Given the description of an element on the screen output the (x, y) to click on. 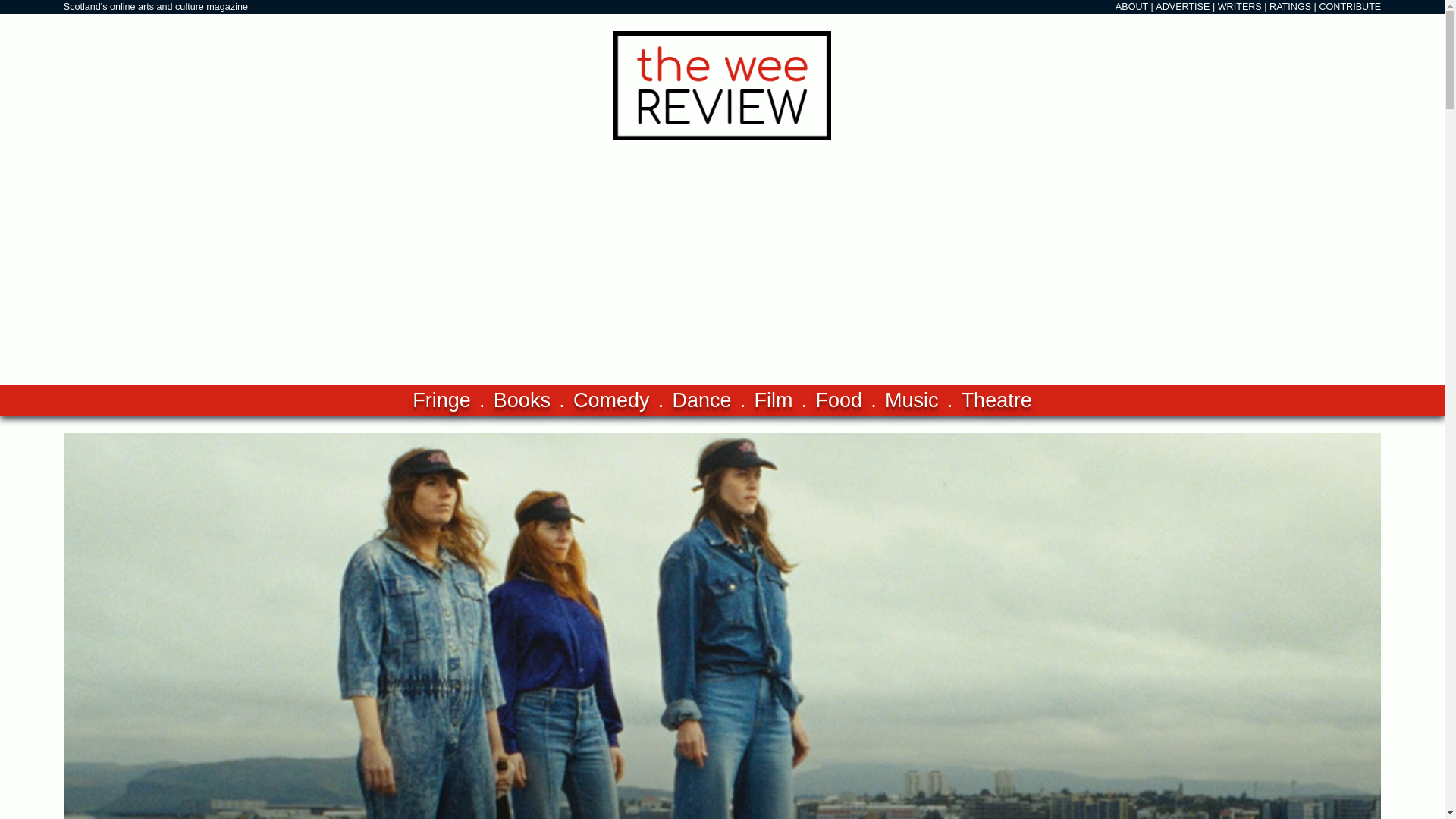
Comedy (611, 400)
Books (521, 400)
ADVERTISE (1182, 6)
CONTRIBUTE (1349, 6)
Music (911, 400)
RATINGS (1290, 6)
Film (772, 400)
Dance (701, 400)
WRITERS (1239, 6)
Fringe (441, 400)
Food (838, 400)
ABOUT (1131, 6)
Theatre (996, 400)
